Given the description of an element on the screen output the (x, y) to click on. 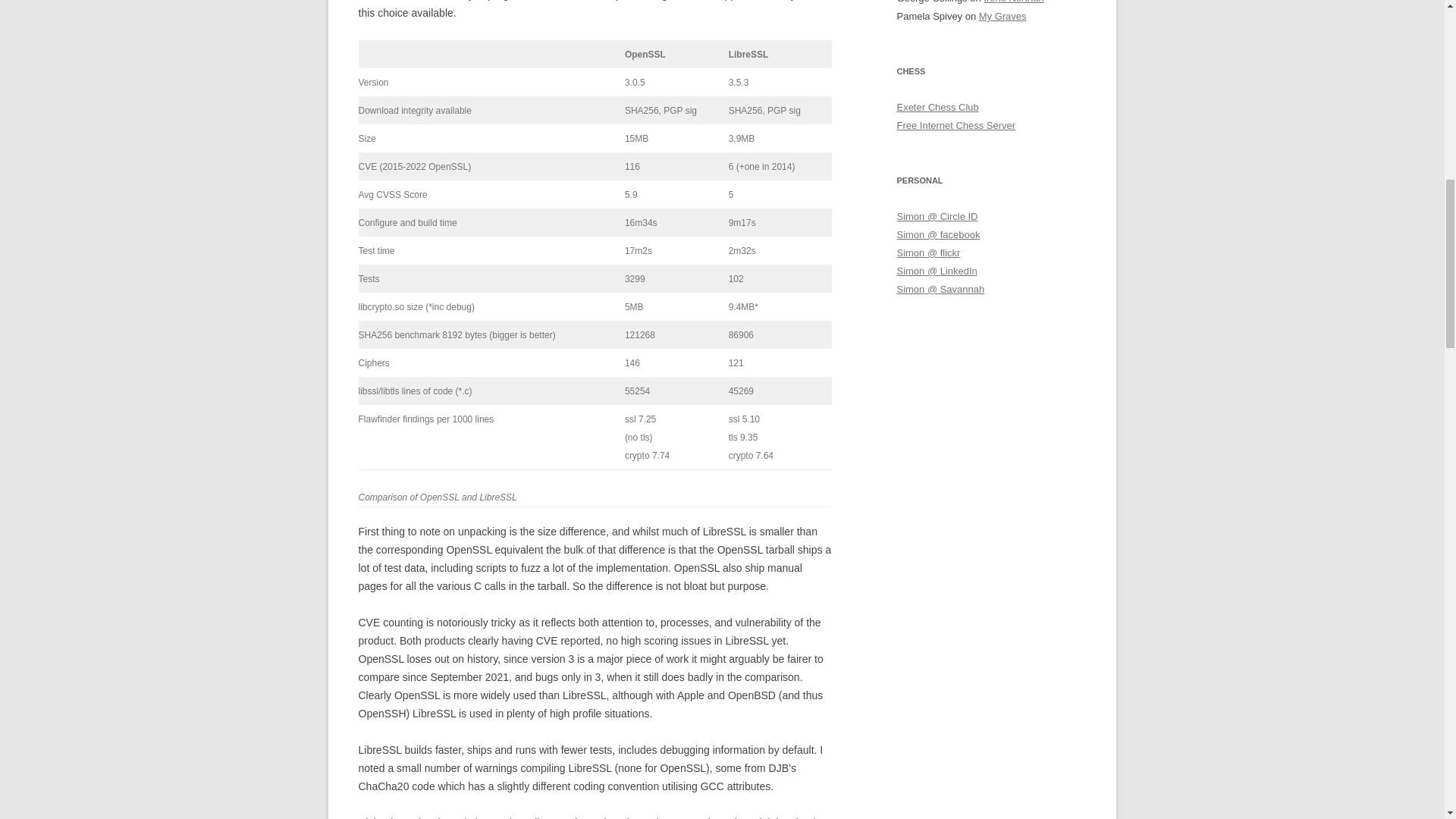
DNS and spam related rantings from Simon Waters (936, 215)
LinkedIn page for Simon Waters (936, 270)
Facebook page of Simon Waters (937, 234)
Simon Waters account at the GNU project (940, 288)
Exeter Chess Club (937, 107)
Play chess online (955, 125)
My Graves (1002, 16)
Free Internet Chess Server (955, 125)
Irene Northan (1013, 2)
Flickr photostream of Simon Waters (927, 252)
Website of Exeter Chess Club (937, 107)
